Given the description of an element on the screen output the (x, y) to click on. 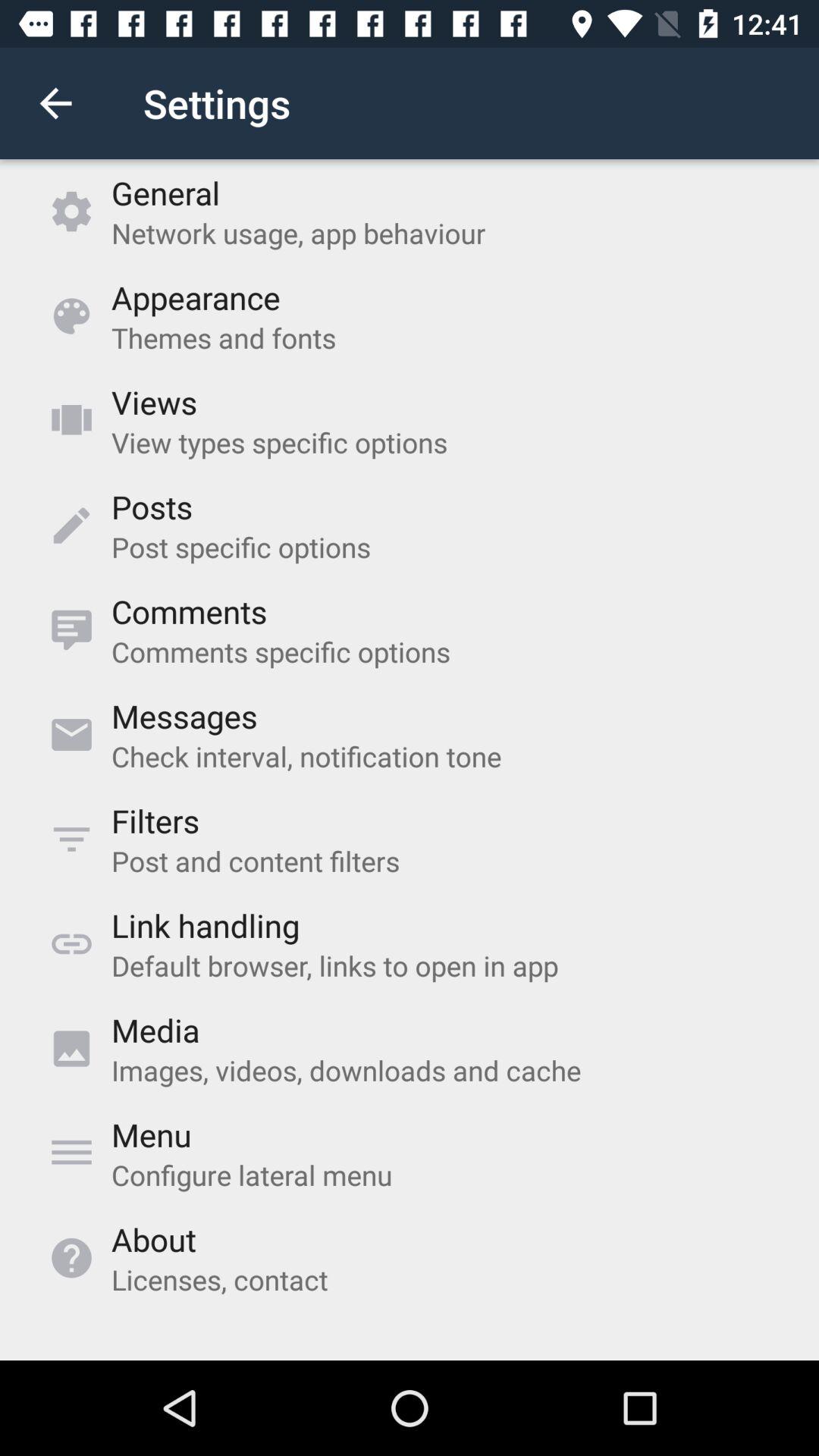
choose icon above the general item (55, 103)
